Given the description of an element on the screen output the (x, y) to click on. 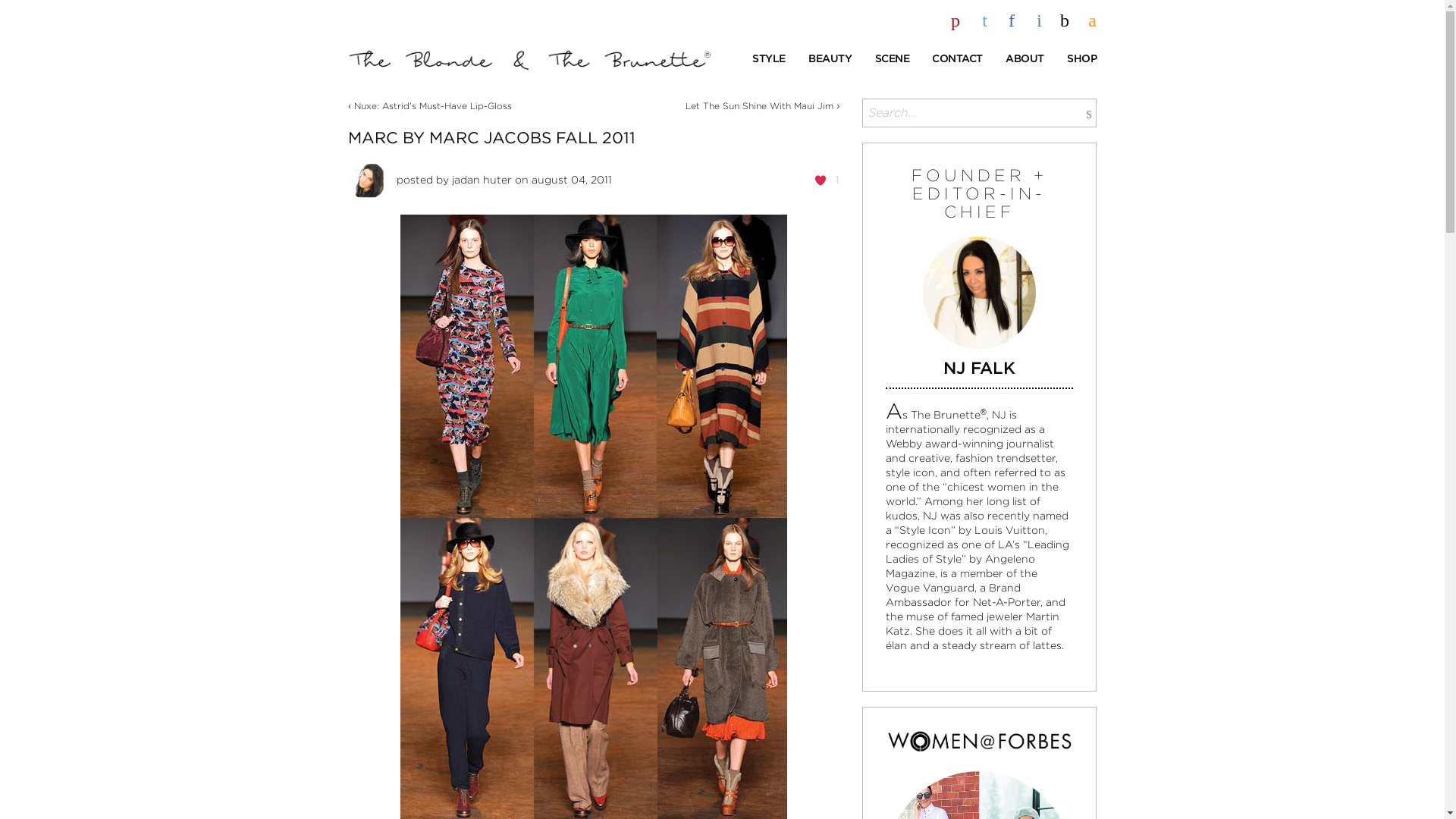
ABOUT (1024, 59)
SHOP (1081, 59)
SCENE (892, 59)
BEAUTY (829, 59)
STYLE (769, 59)
Permanent Link to Marc By Marc Jacobs Fall 2011 (490, 137)
CONTACT (956, 59)
